Given the description of an element on the screen output the (x, y) to click on. 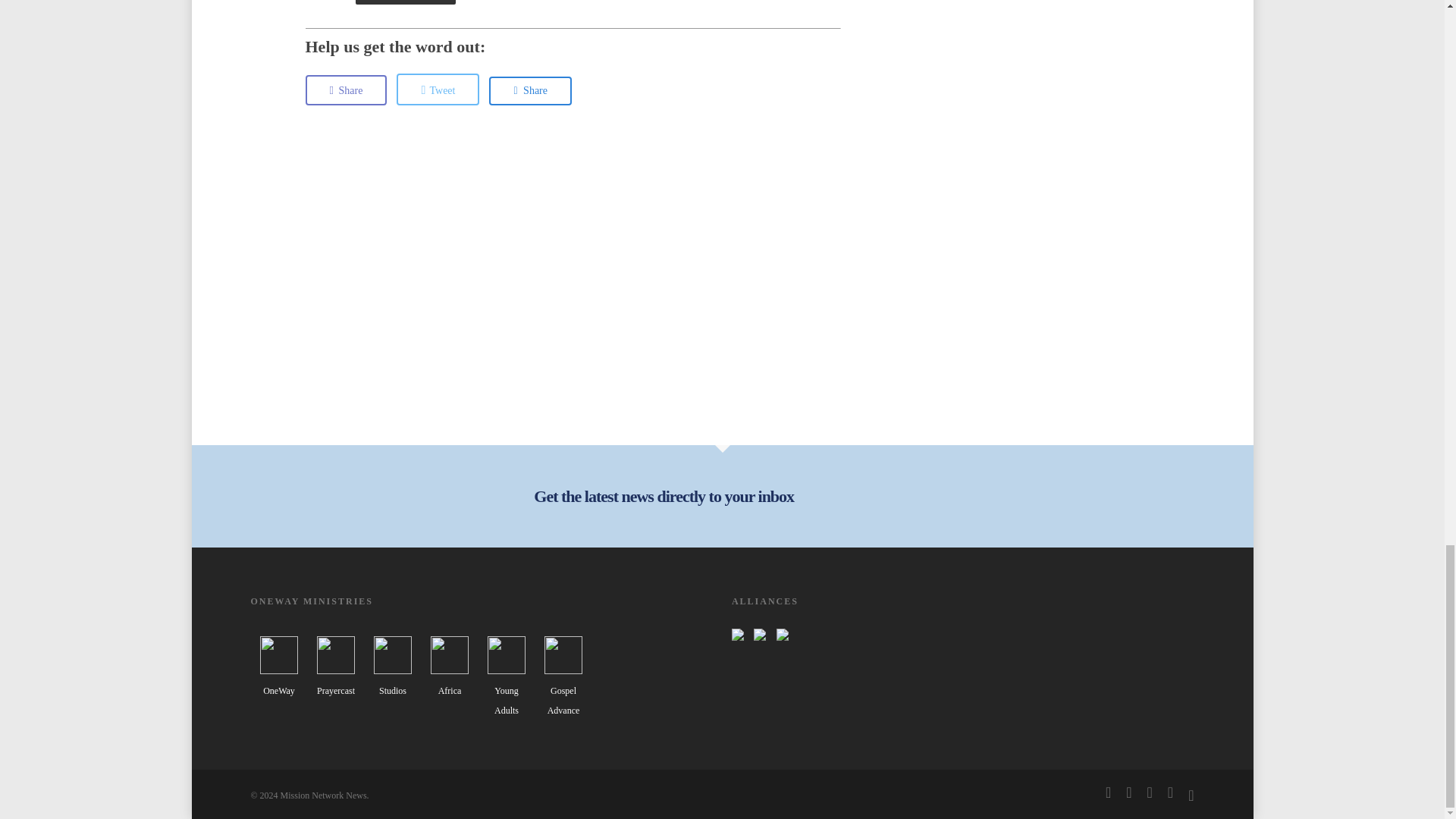
Share this (345, 90)
Share this (530, 90)
Tweet this (437, 89)
